Given the description of an element on the screen output the (x, y) to click on. 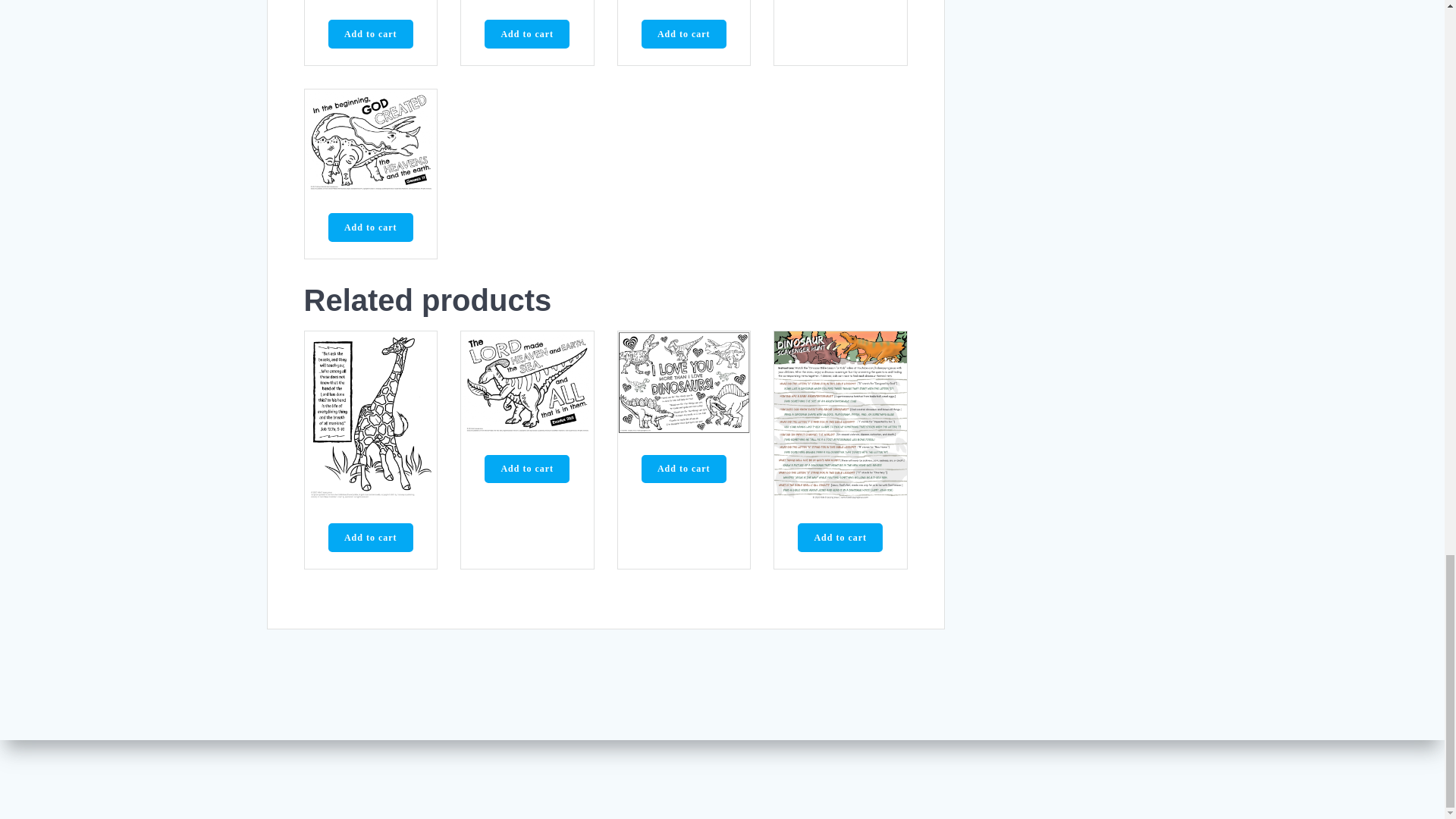
Add to cart (371, 33)
Add to cart (526, 33)
